Given the description of an element on the screen output the (x, y) to click on. 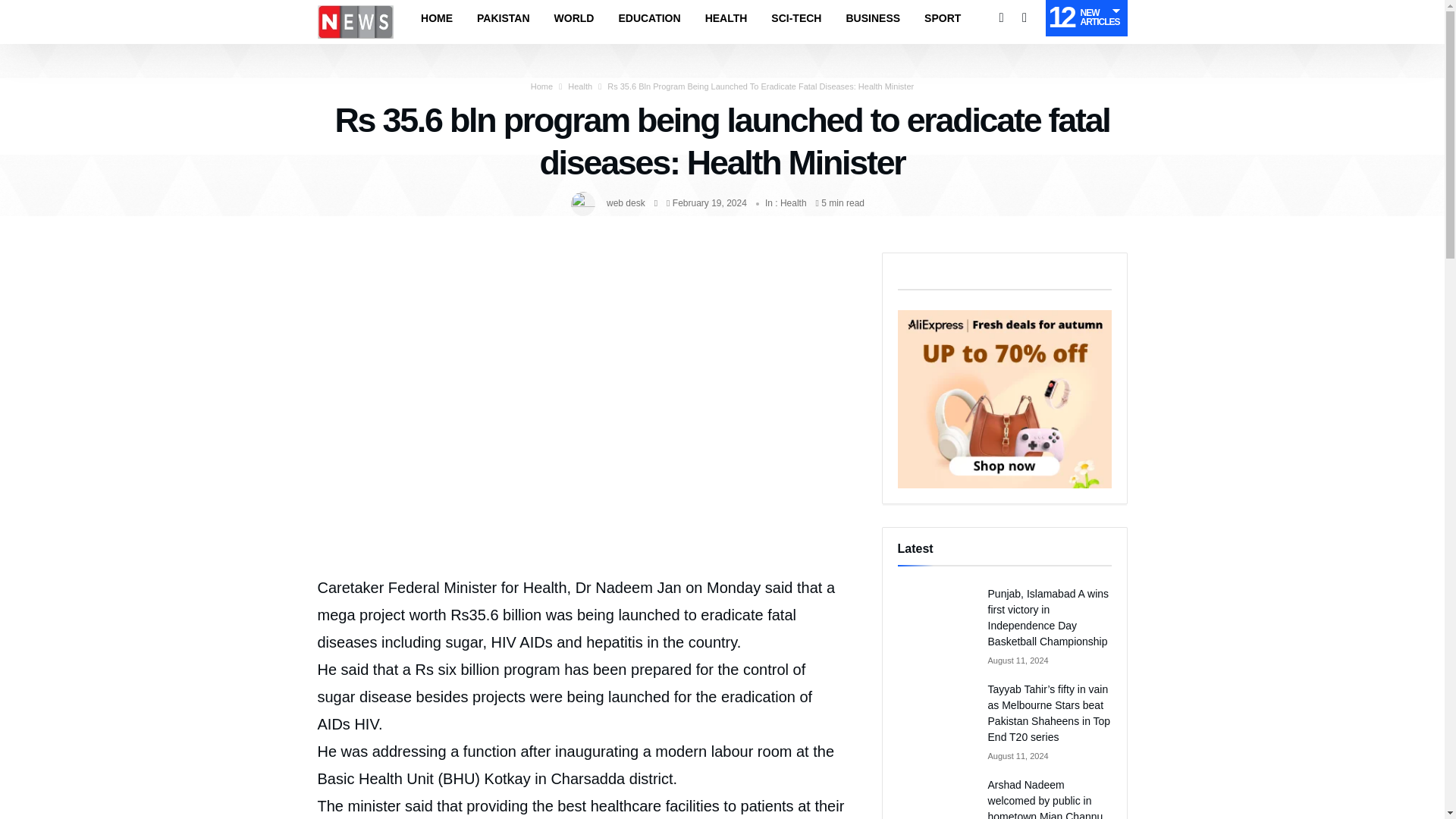
WORLD (574, 18)
HOME (436, 18)
web desk (626, 203)
SCI-TECH (795, 18)
SPORT (942, 18)
PAKISTAN (502, 18)
EDUCATION (649, 18)
NEWS.net.pk (355, 5)
Home (542, 85)
BUSINESS (872, 18)
